Given the description of an element on the screen output the (x, y) to click on. 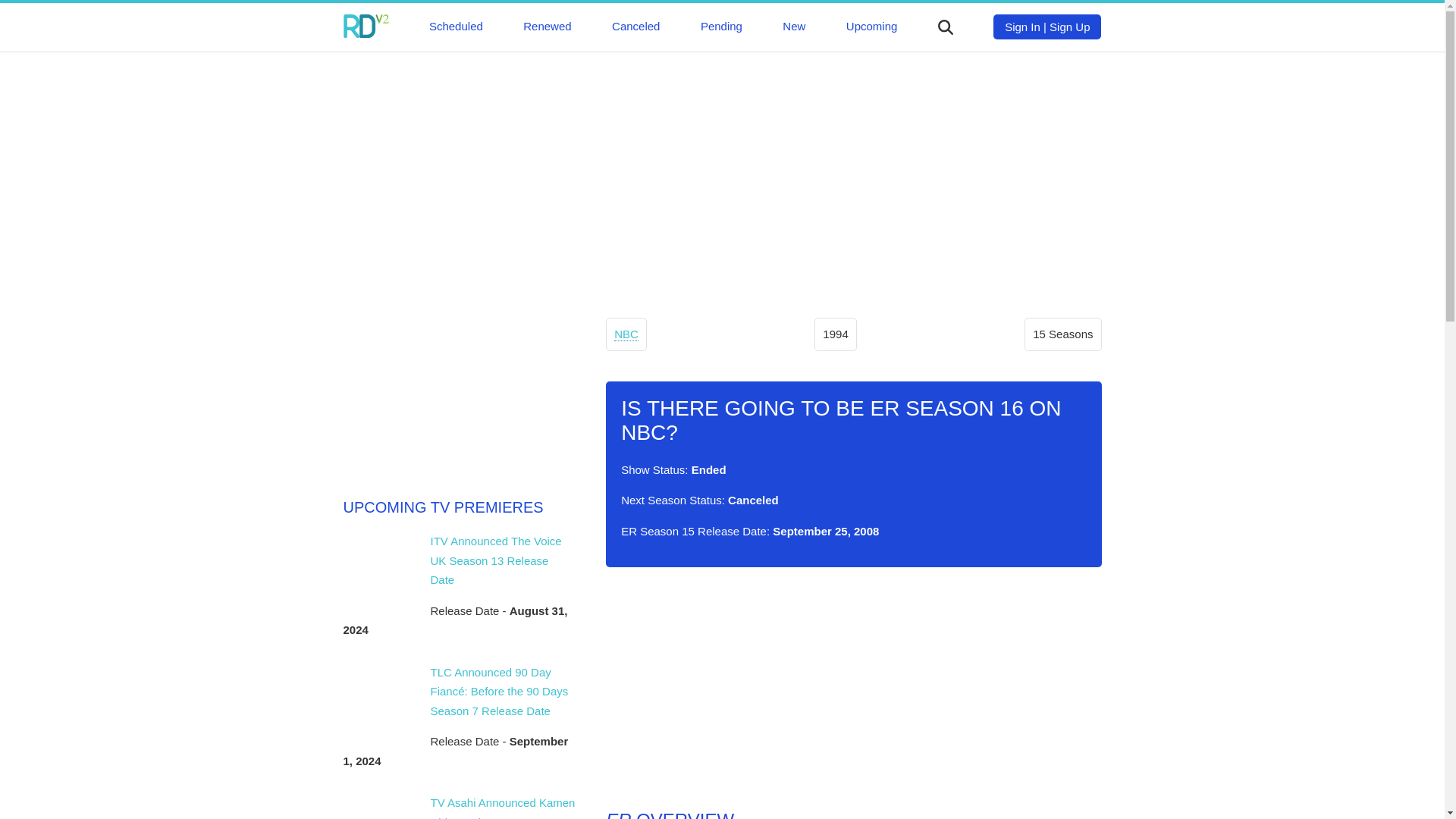
Sign In (1022, 26)
Scheduled (456, 25)
Advertisement (852, 688)
NBC (626, 334)
Pending (721, 25)
New (794, 25)
Sign Up (1069, 26)
Canceled (635, 25)
Upcoming (871, 25)
